Given the description of an element on the screen output the (x, y) to click on. 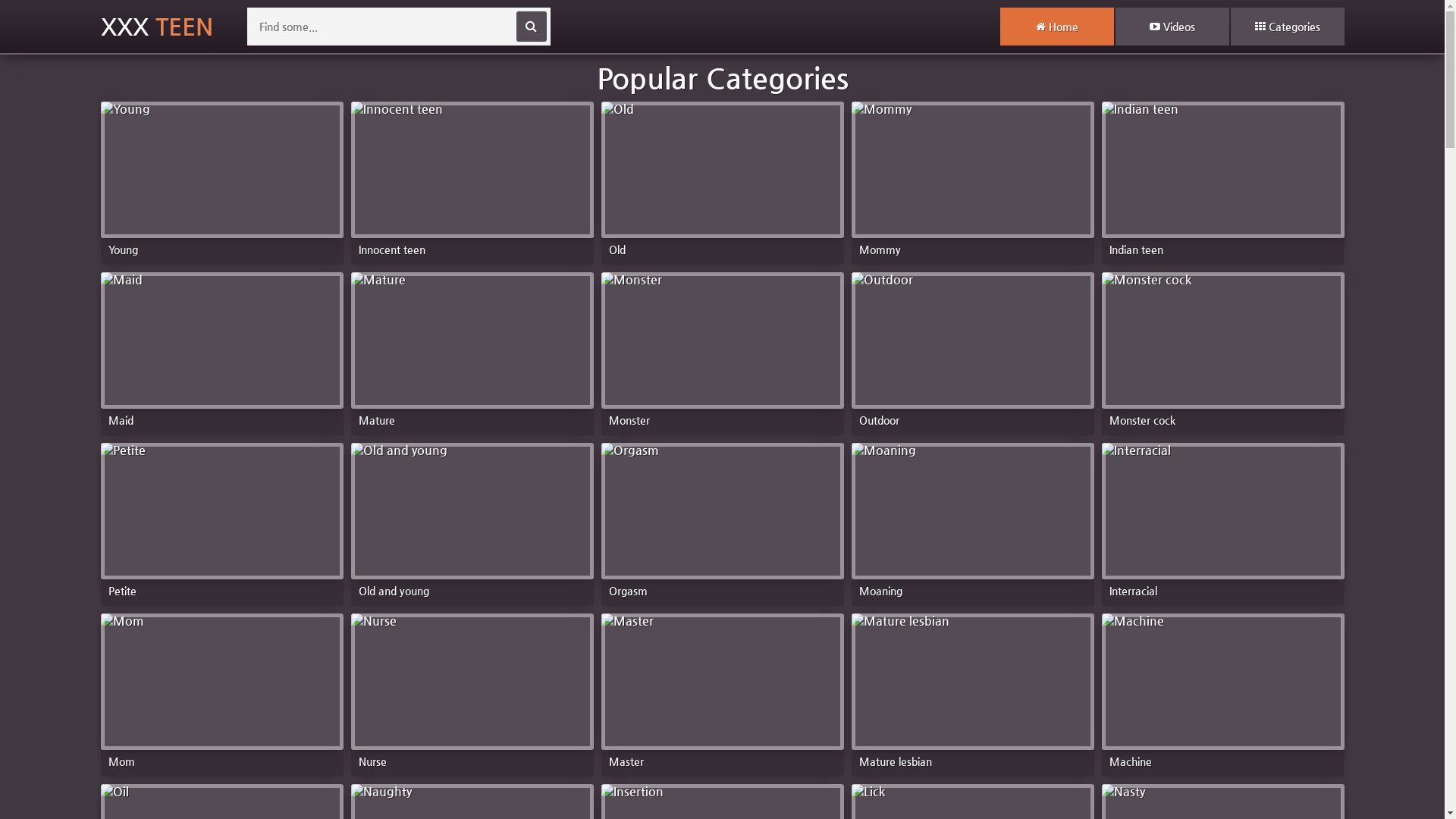
Videos Element type: text (1171, 26)
Outdoor Element type: text (971, 349)
Monster cock Element type: text (1222, 349)
Moaning Element type: text (971, 520)
Innocent teen Element type: text (471, 179)
Indian teen Element type: text (1222, 179)
Old Element type: text (721, 179)
Mature Element type: text (471, 349)
Petite Element type: text (221, 520)
Interracial Element type: text (1222, 520)
Mom Element type: text (221, 690)
Monster Element type: text (721, 349)
Mommy Element type: text (971, 179)
Nurse Element type: text (471, 690)
Machine Element type: text (1222, 690)
XXX TEEN Element type: text (156, 26)
XV3zjAcsearch Element type: hover (530, 26)
Orgasm Element type: text (721, 520)
Mature lesbian Element type: text (971, 690)
Old and young Element type: text (471, 520)
Master Element type: text (721, 690)
Categories Element type: text (1286, 26)
Home Element type: text (1056, 26)
Maid Element type: text (221, 349)
Young Element type: text (221, 179)
